Given the description of an element on the screen output the (x, y) to click on. 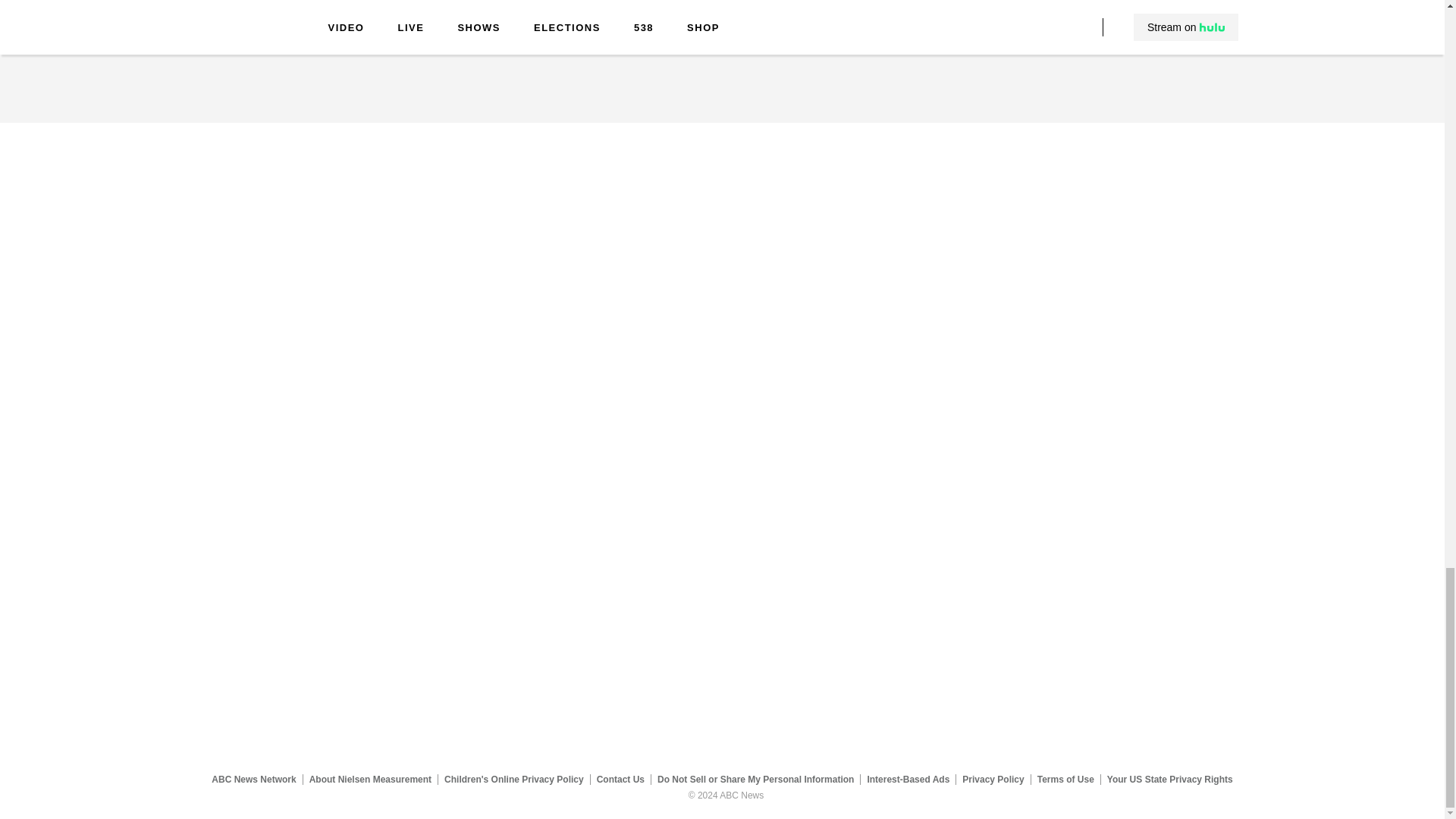
Your US State Privacy Rights (1169, 778)
Do Not Sell or Share My Personal Information (755, 778)
Terms of Use (1065, 778)
About Nielsen Measurement (370, 778)
Children's Online Privacy Policy (514, 778)
ABC News Network (253, 778)
Privacy Policy (993, 778)
Interest-Based Ads (908, 778)
Contact Us (620, 778)
